Given the description of an element on the screen output the (x, y) to click on. 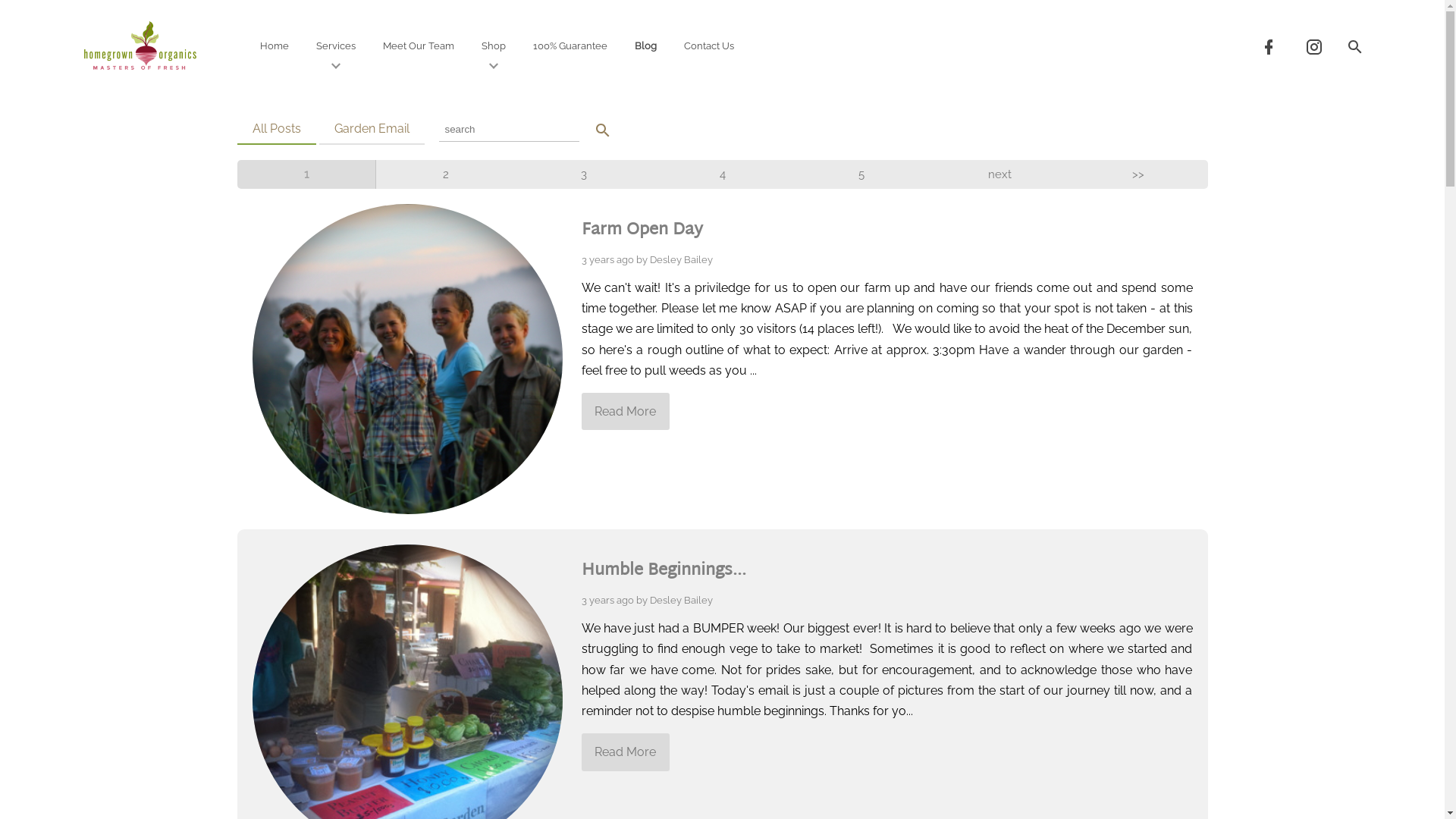
Meet Our Team Element type: text (418, 45)
Read More Element type: text (624, 752)
2 Element type: text (445, 174)
>> Element type: text (1138, 174)
3 Element type: text (583, 174)
Blog Element type: text (645, 45)
Contact Us Element type: text (708, 45)
Search this site Element type: hover (1354, 45)
Humble Beginnings... Element type: text (662, 570)
Masters of Fresh Element type: hover (140, 44)
Services Element type: text (335, 45)
5 Element type: text (860, 174)
All Posts Element type: text (275, 128)
Garden Email Element type: text (370, 128)
IMG-5910.jpg Element type: hover (406, 358)
Home Element type: text (274, 45)
Farm Open Day Element type: text (641, 230)
100% Guarantee Element type: text (570, 45)
Read More Element type: text (624, 411)
Shop Element type: text (493, 45)
next Element type: text (999, 174)
4 Element type: text (722, 174)
